Given the description of an element on the screen output the (x, y) to click on. 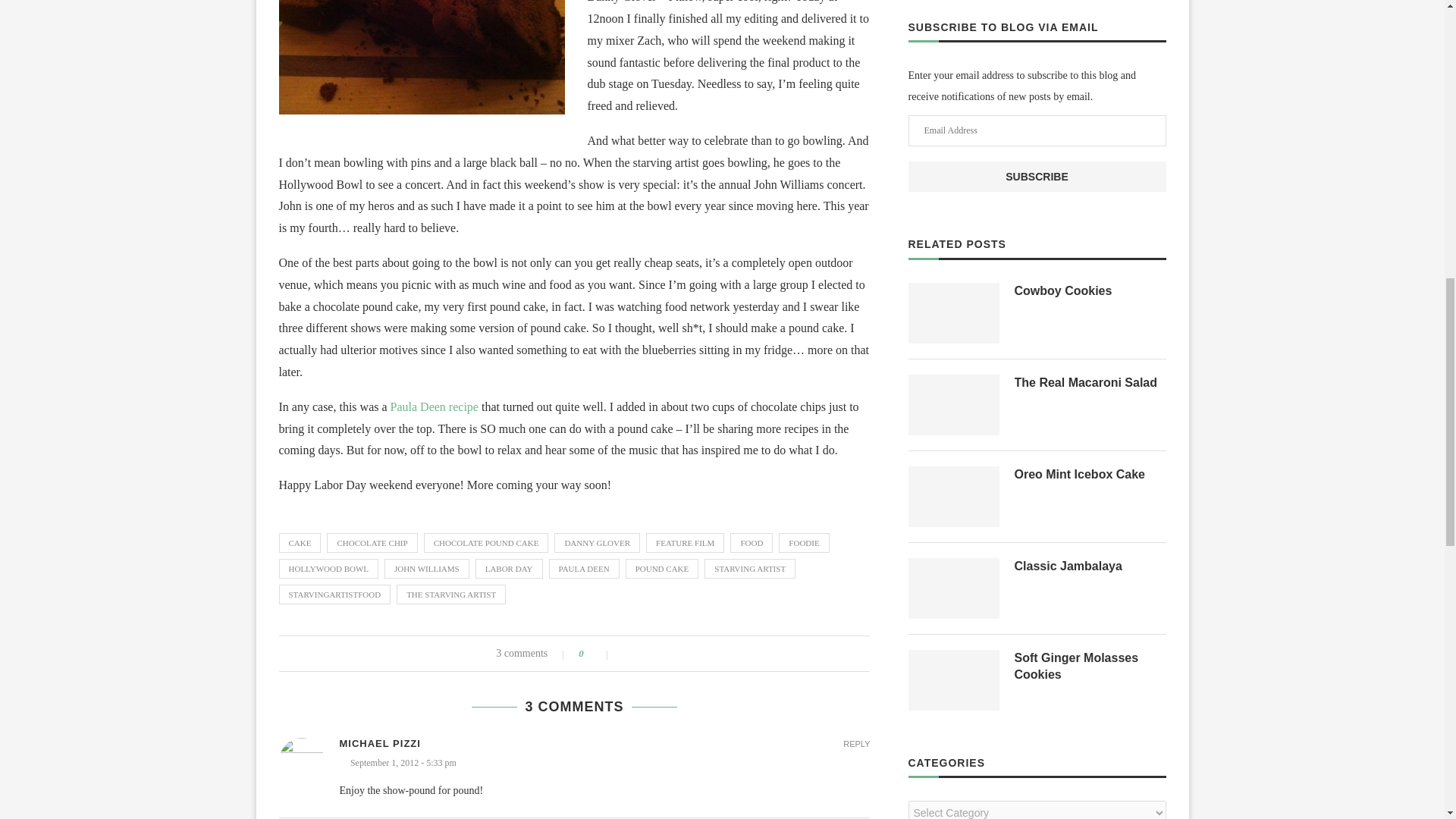
CHOCOLATE POUND CAKE (485, 542)
Classic Jambalaya (953, 588)
Cowboy Cookies (953, 312)
The Real Macaroni Salad (953, 404)
Oreo Mint Icebox Cake (1090, 474)
The Real Macaroni Salad (1090, 382)
FOOD (751, 542)
HOLLYWOOD BOWL (328, 568)
Oreo Mint Icebox Cake (953, 496)
JOHN WILLIAMS (426, 568)
Paula Deen recipe (434, 406)
Saturday, September 1, 2012, 5:33 pm (604, 763)
CAKE (300, 542)
Cowboy Cookies (1090, 290)
CHOCOLATE CHIP (371, 542)
